Given the description of an element on the screen output the (x, y) to click on. 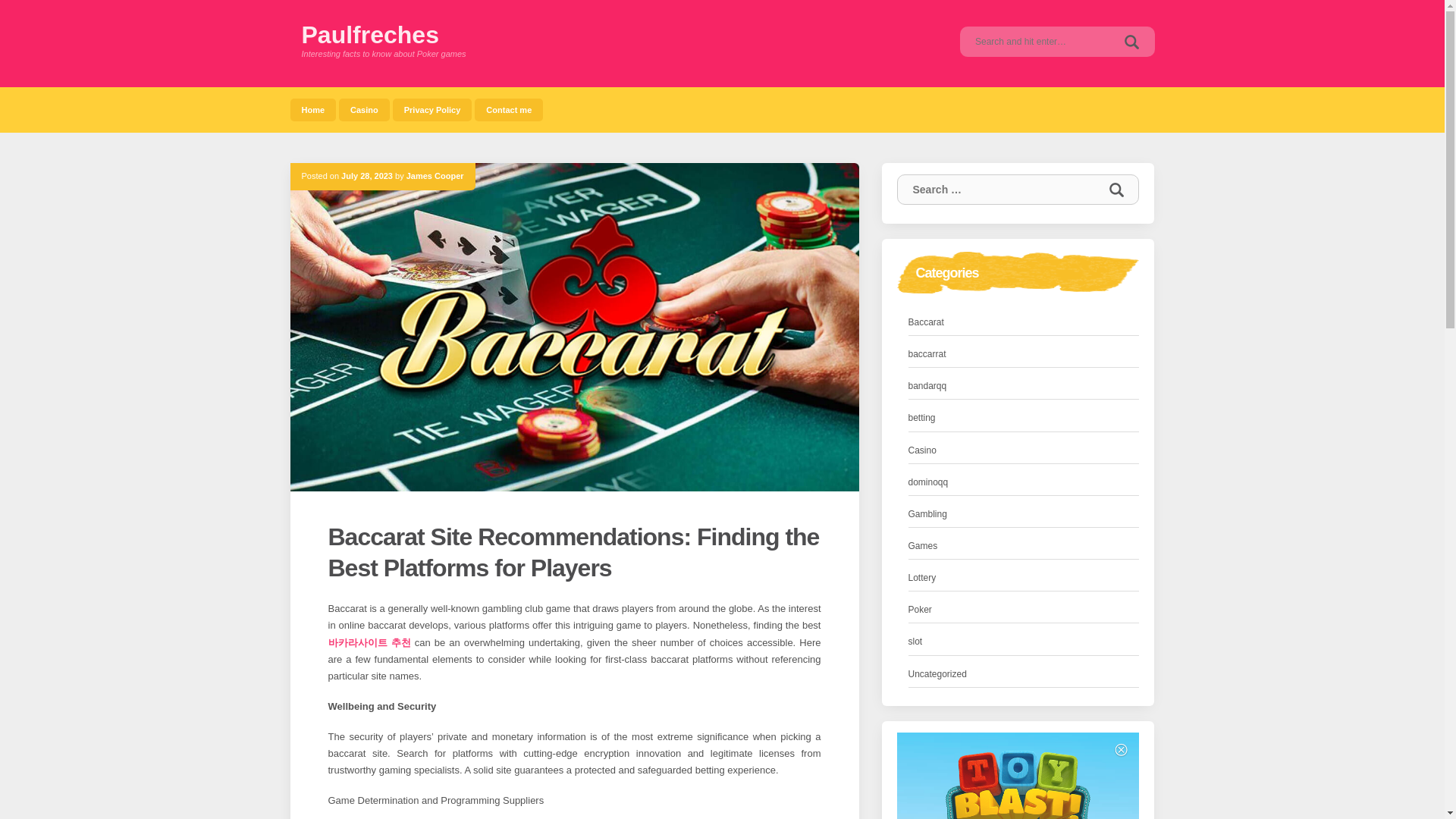
Paulfreches (370, 34)
Casino (364, 109)
Casino (922, 450)
Privacy Policy (432, 109)
Search (1115, 189)
Casino (364, 109)
Search (1131, 41)
Search (1131, 41)
Home (312, 109)
Contact me (508, 109)
